Given the description of an element on the screen output the (x, y) to click on. 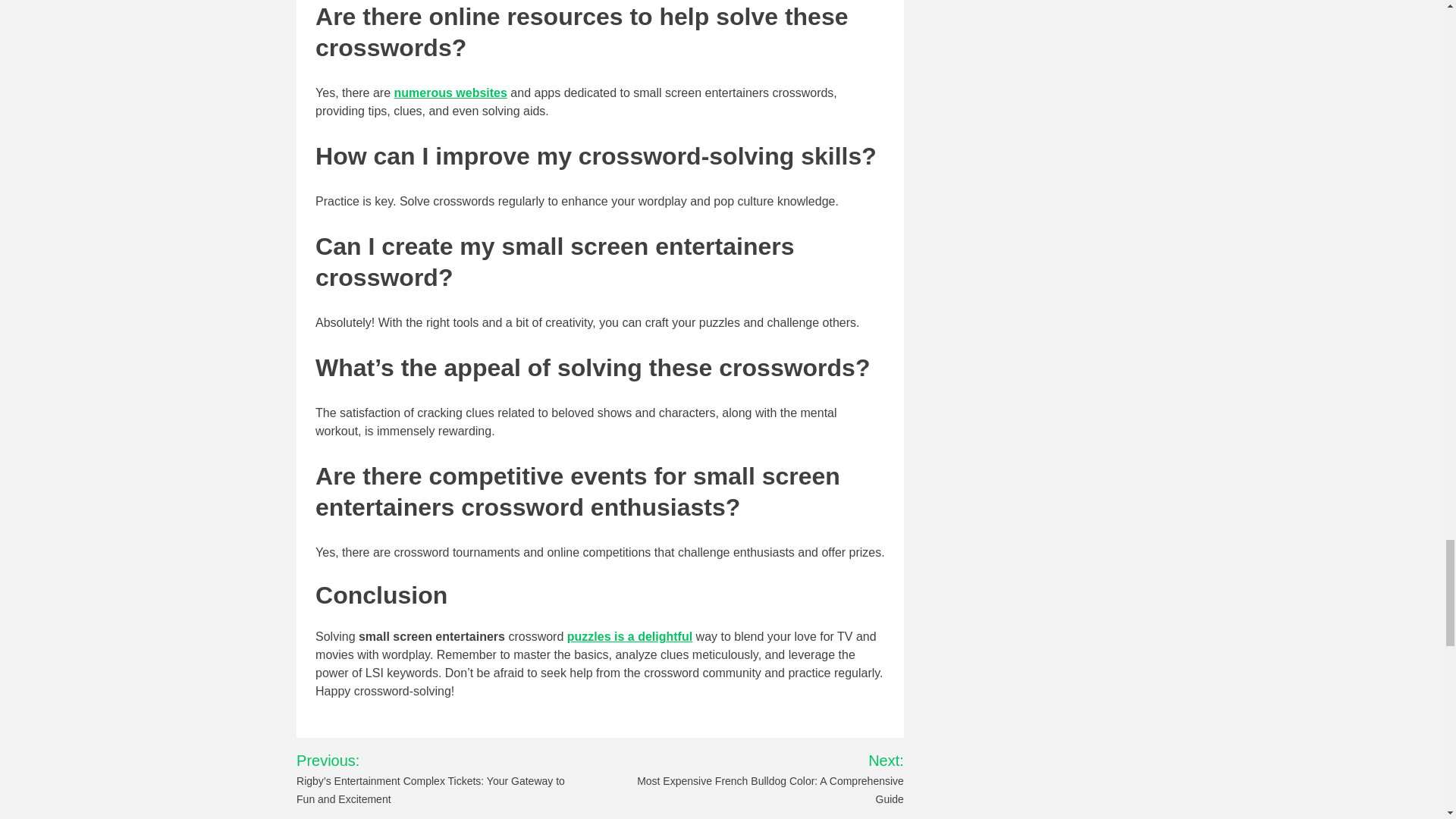
numerous websites (450, 92)
puzzles is a delightful (630, 635)
